Given the description of an element on the screen output the (x, y) to click on. 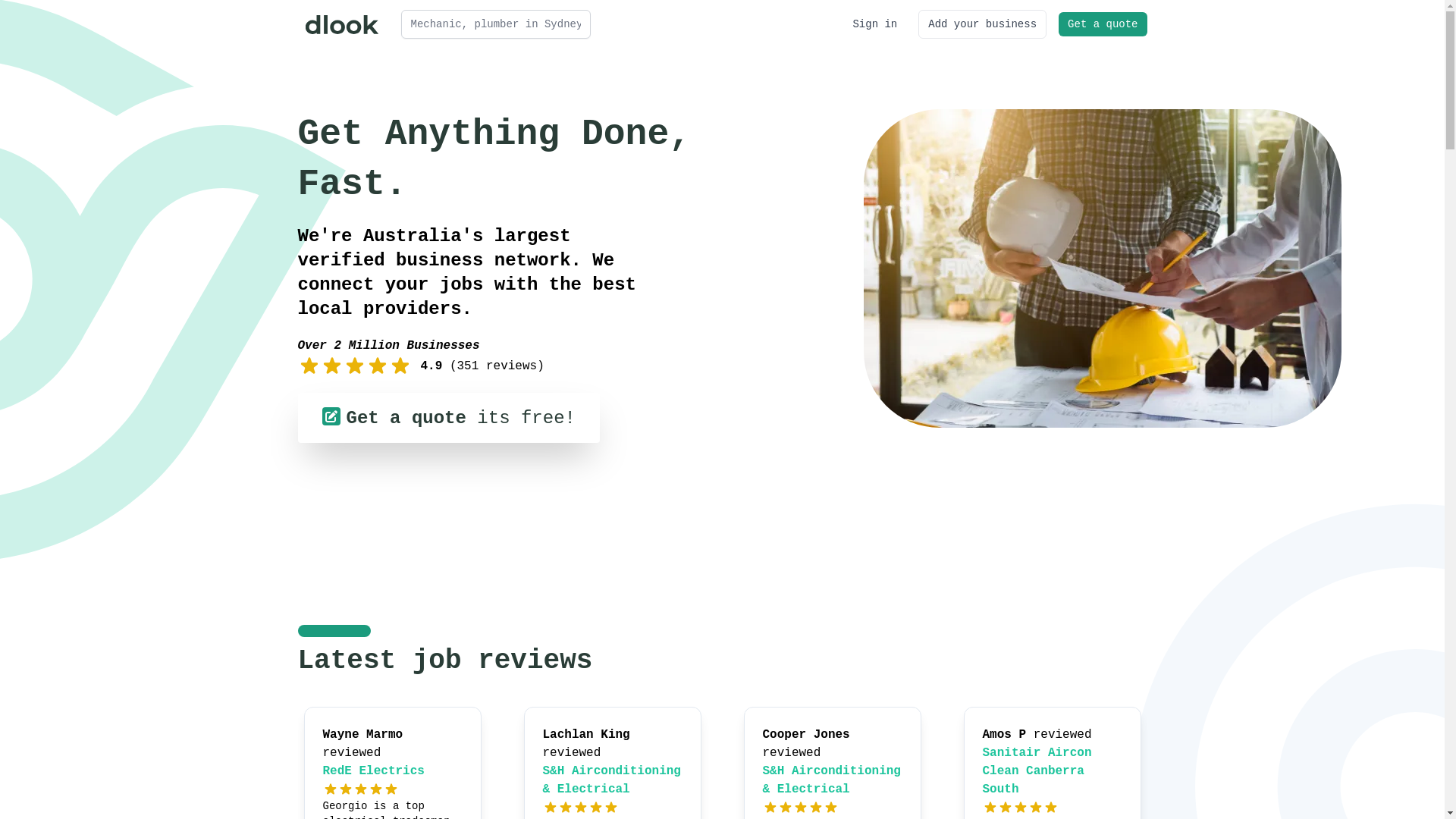
Get a quote Element type: text (1102, 24)
S&H Airconditioning & Electrical Element type: text (611, 780)
Get a quote its free! Element type: text (448, 417)
Sanitair Aircon Clean Canberra South Element type: text (1037, 771)
Add your business Element type: text (982, 23)
S&H Airconditioning & Electrical Element type: text (831, 780)
Sign in Element type: text (874, 23)
RedE Electrics Element type: text (373, 771)
